Given the description of an element on the screen output the (x, y) to click on. 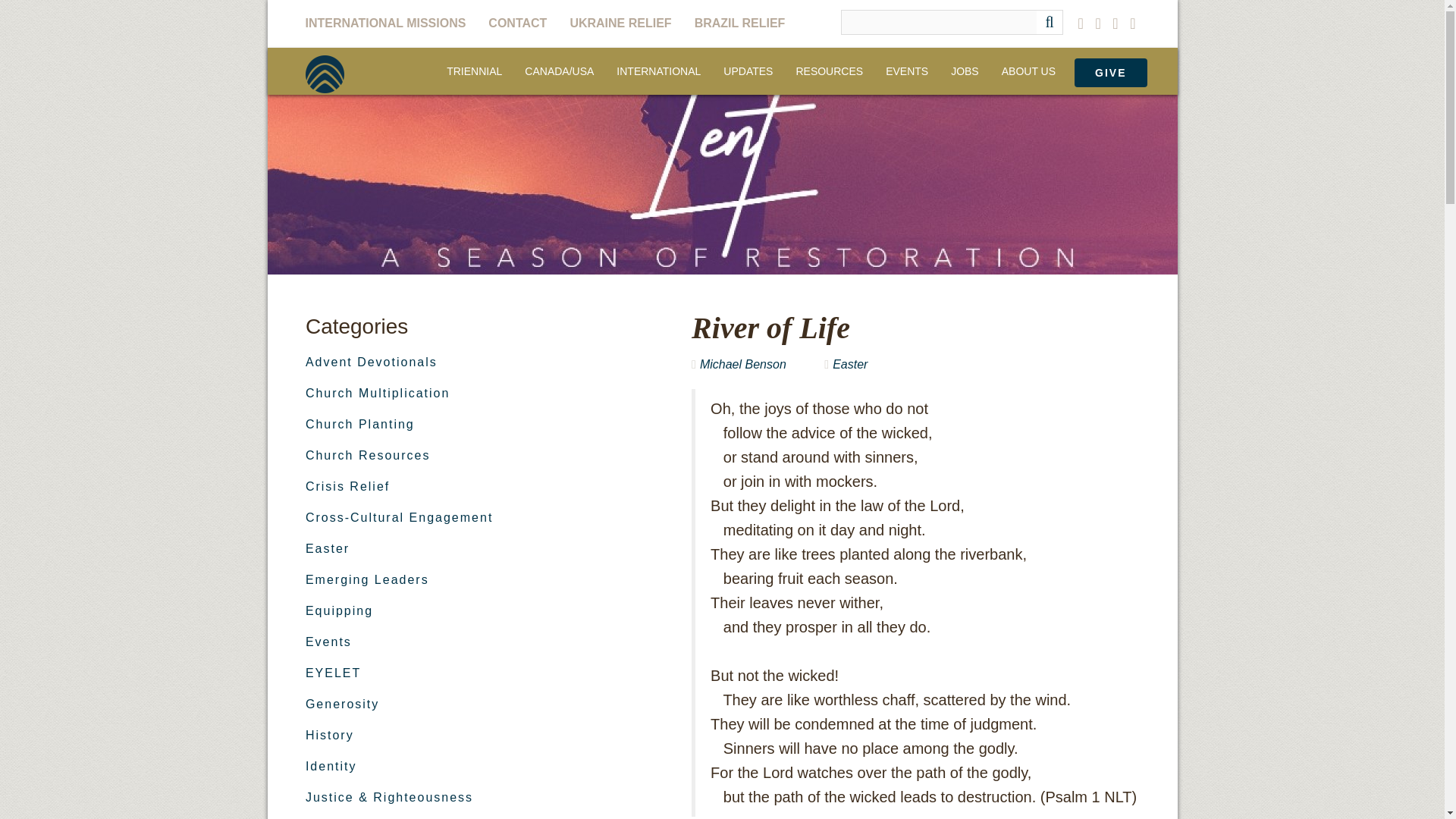
TRIENNIAL (474, 71)
EVENTS (907, 71)
INTERNATIONAL (658, 71)
CONTACT (517, 23)
UPDATES (747, 71)
JOBS (964, 71)
RESOURCES (829, 71)
UKRAINE RELIEF (619, 23)
INTERNATIONAL MISSIONS (390, 23)
ABOUT US (1028, 71)
